Given the description of an element on the screen output the (x, y) to click on. 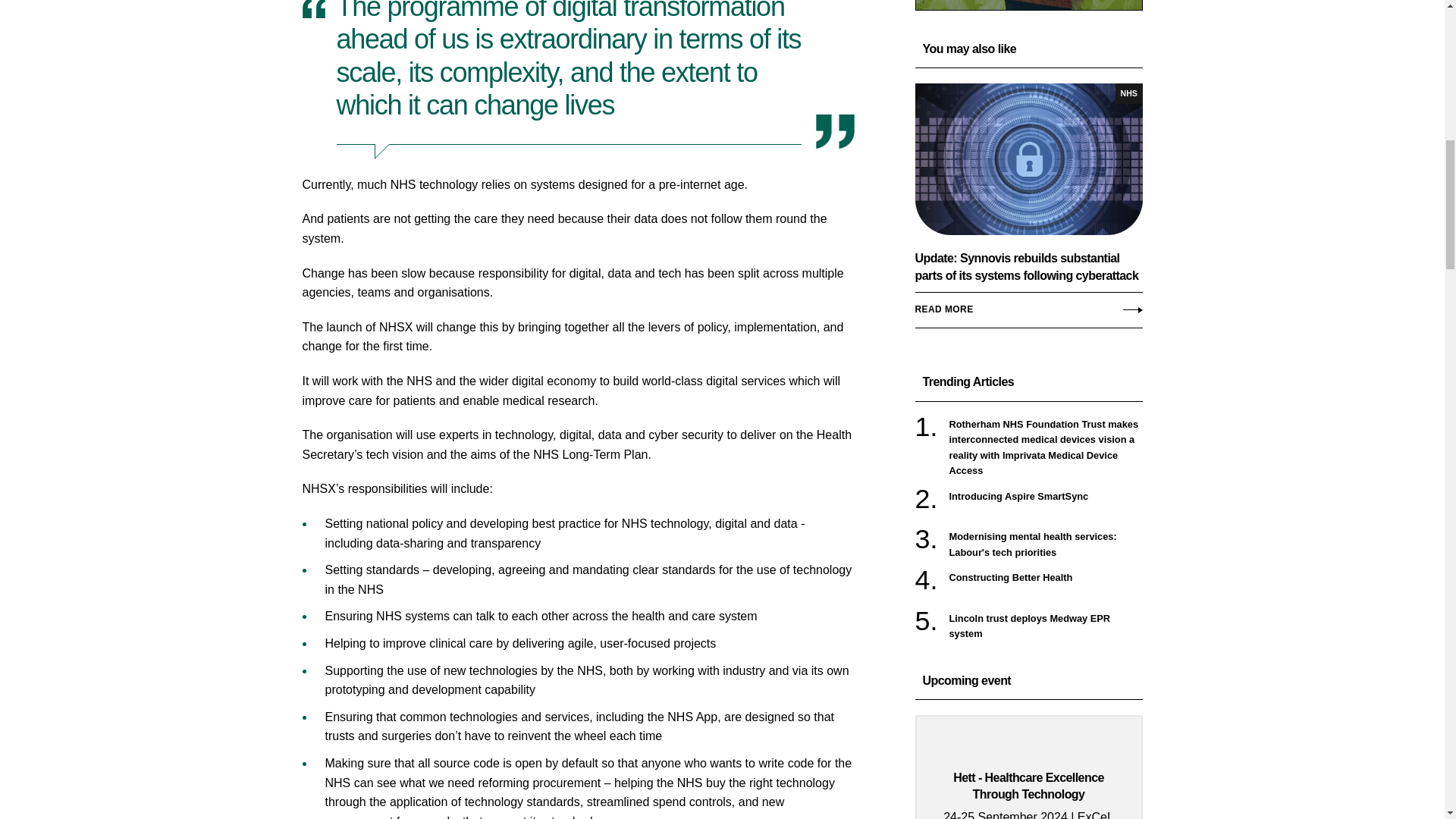
Introducing Aspire SmartSync (1045, 496)
NHS (1128, 93)
Constructing Better Health (1045, 577)
Modernising mental health services: Labour's tech priorities (1045, 544)
Lincoln trust deploys Medway EPR system (1045, 626)
